Given the description of an element on the screen output the (x, y) to click on. 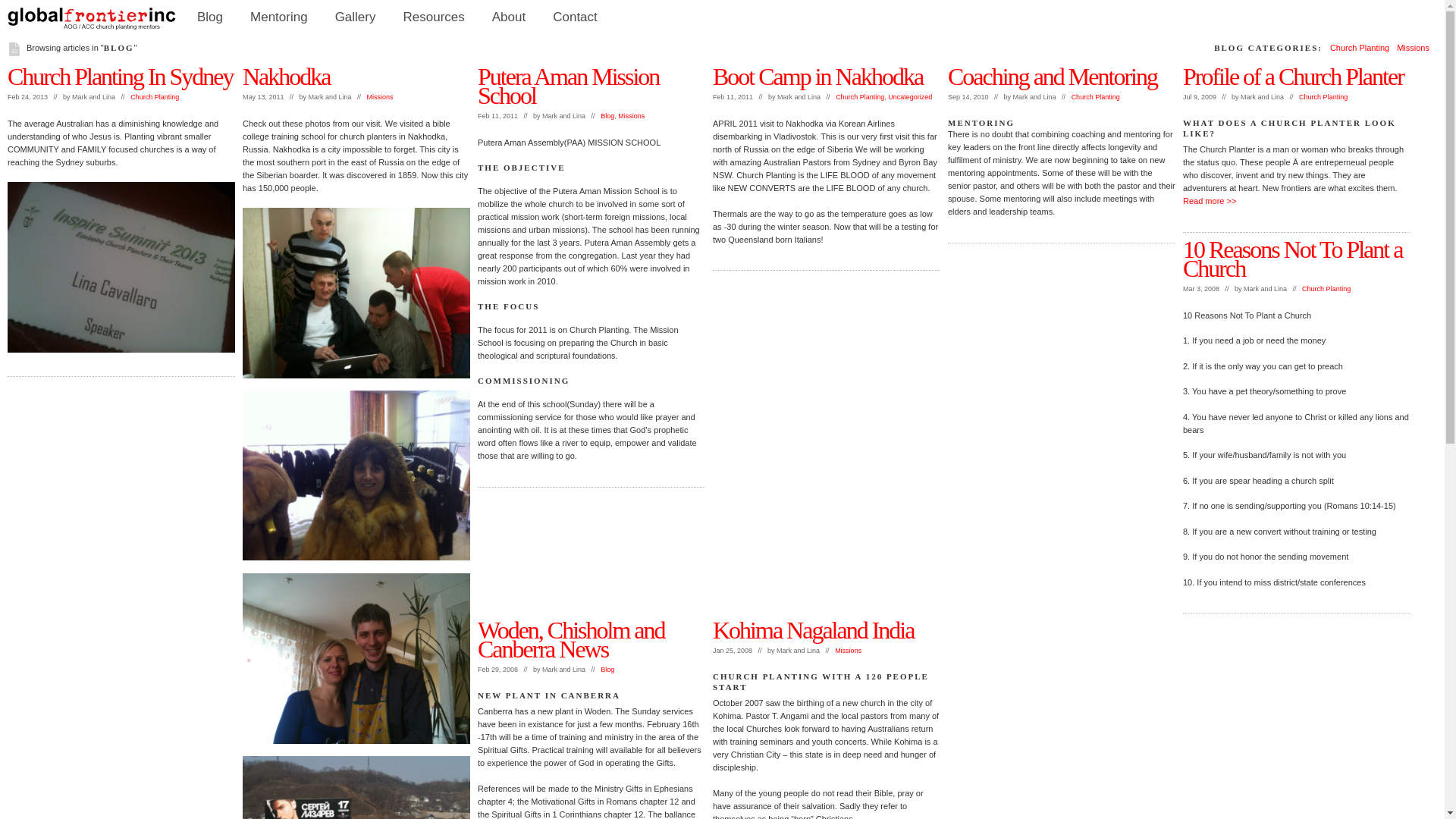
Putera Aman Mission School Element type: text (567, 85)
Coaching and Mentoring Element type: text (1052, 76)
Kohima Nagaland India Element type: text (812, 629)
Uncategorized Element type: text (909, 96)
Church Planting In Sydney Element type: text (120, 76)
Resources Element type: text (433, 16)
Blog Element type: text (607, 115)
Contact Element type: text (575, 16)
Church Planting Element type: text (1095, 96)
Missions Element type: text (847, 650)
10 Reasons Not To Plant a Church Element type: text (1292, 258)
Blog Element type: text (607, 669)
Mentoring Element type: text (278, 16)
Missions Element type: text (1412, 47)
Profile of a Church Planter Element type: text (1293, 76)
About Element type: text (508, 16)
Missions Element type: text (380, 96)
Church Planting Element type: text (1323, 96)
Church Planting Element type: text (1359, 47)
Woden, Chisholm and Canberra News Element type: text (571, 639)
Church Planting Element type: text (154, 96)
Gallery Element type: text (355, 16)
Missions Element type: text (631, 115)
Boot Camp in Nakhodka Element type: text (817, 76)
Nakhodka Element type: text (286, 76)
Read more >> Element type: text (1209, 200)
Blog Element type: text (209, 16)
Church Planting Element type: text (1326, 288)
Church Planting Element type: text (859, 96)
